Given the description of an element on the screen output the (x, y) to click on. 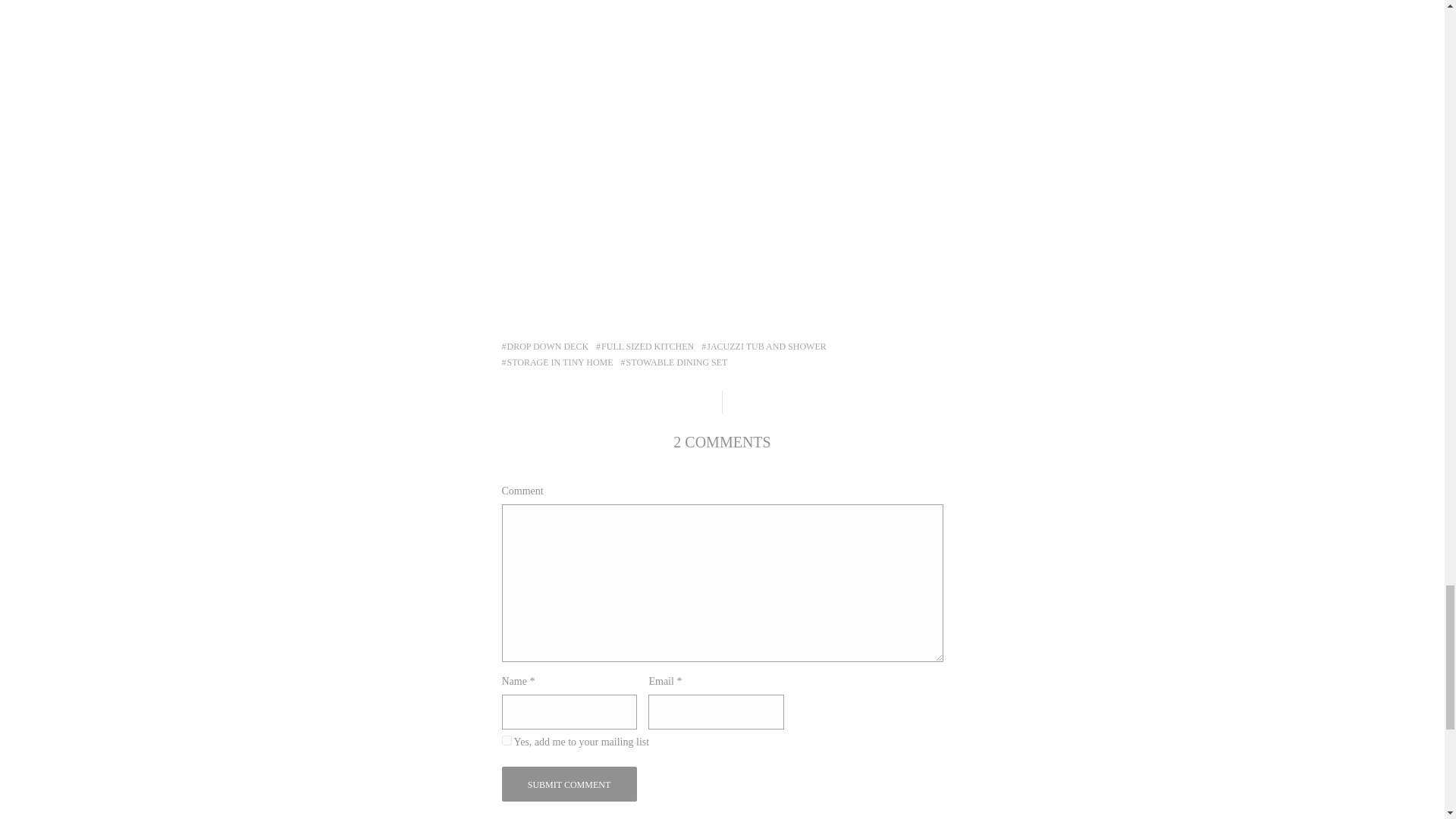
1 (507, 740)
DROP DOWN DECK (545, 346)
JACUZZI TUB AND SHOWER (763, 346)
Submit Comment (569, 783)
STORAGE IN TINY HOME (557, 362)
Submit Comment (569, 783)
FULL SIZED KITCHEN (644, 346)
STOWABLE DINING SET (674, 362)
